Given the description of an element on the screen output the (x, y) to click on. 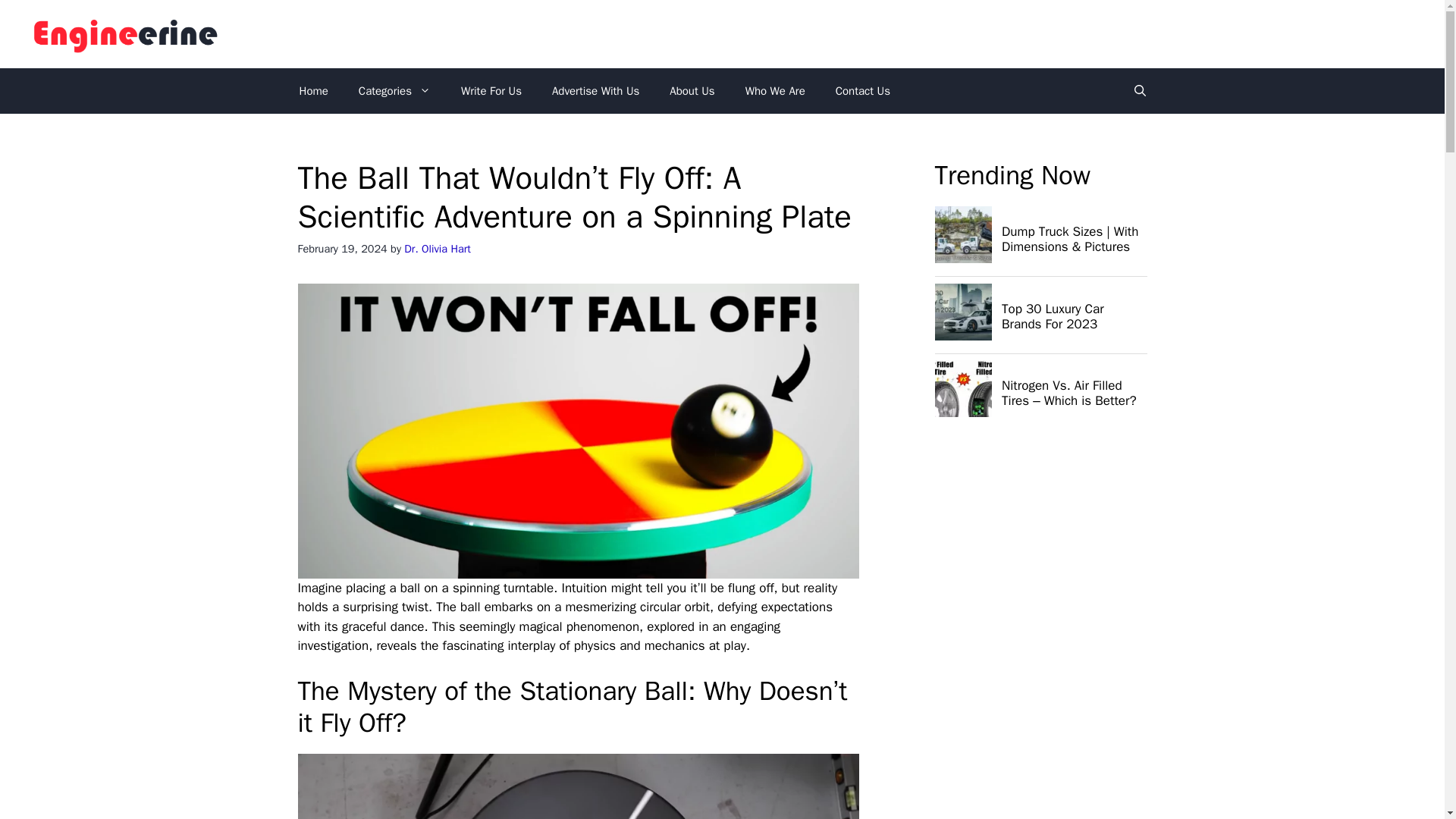
Home (312, 90)
Advertise With Us (595, 90)
About Us (691, 90)
Write For Us (491, 90)
Who We Are (775, 90)
Categories (394, 90)
View all posts by Dr. Olivia Hart (437, 248)
